Given the description of an element on the screen output the (x, y) to click on. 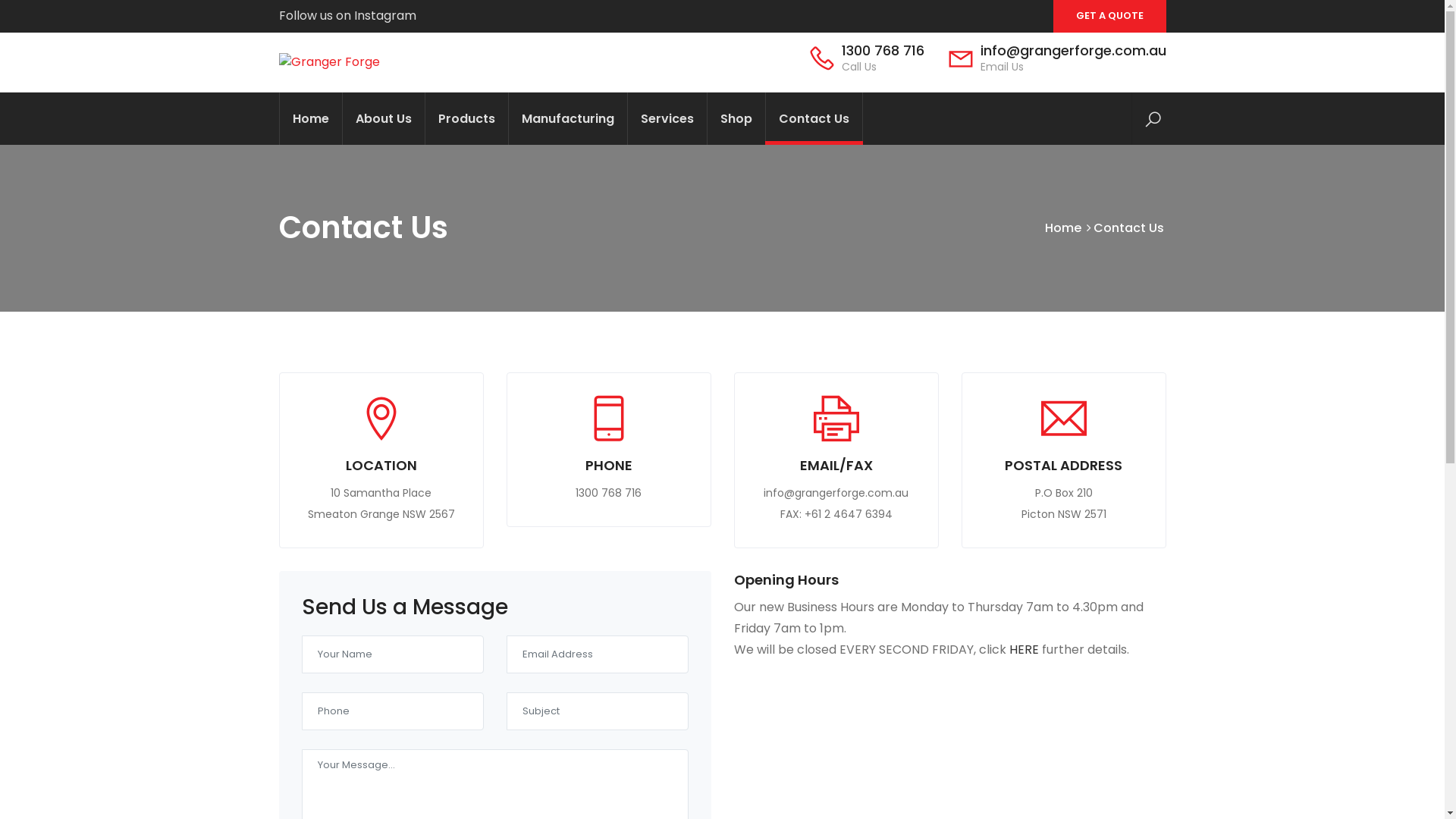
Services Element type: text (666, 118)
GET A QUOTE Element type: text (1108, 16)
Products Element type: text (466, 118)
About Us Element type: text (382, 118)
HERE Element type: text (1024, 649)
Follow us on Instagram Element type: text (347, 15)
Home Element type: text (1062, 227)
Shop Element type: text (735, 118)
Manufacturing Element type: text (567, 118)
Home Element type: text (310, 118)
Contact Us Element type: text (813, 118)
